Given the description of an element on the screen output the (x, y) to click on. 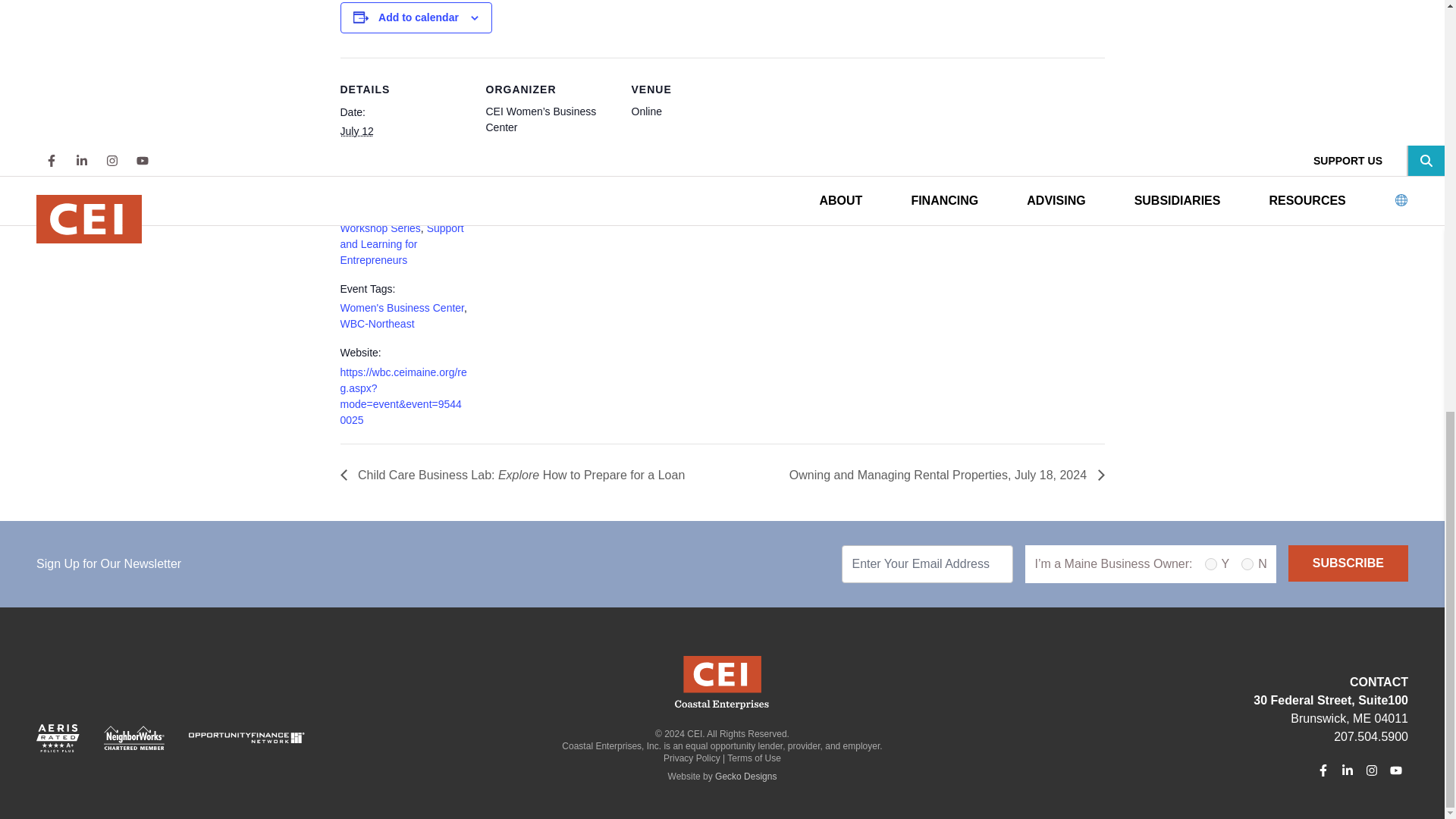
SUBSCRIBE (1347, 563)
N (1247, 563)
2024-07-12 (355, 131)
2024-07-12 (403, 179)
Y (1211, 563)
